Given the description of an element on the screen output the (x, y) to click on. 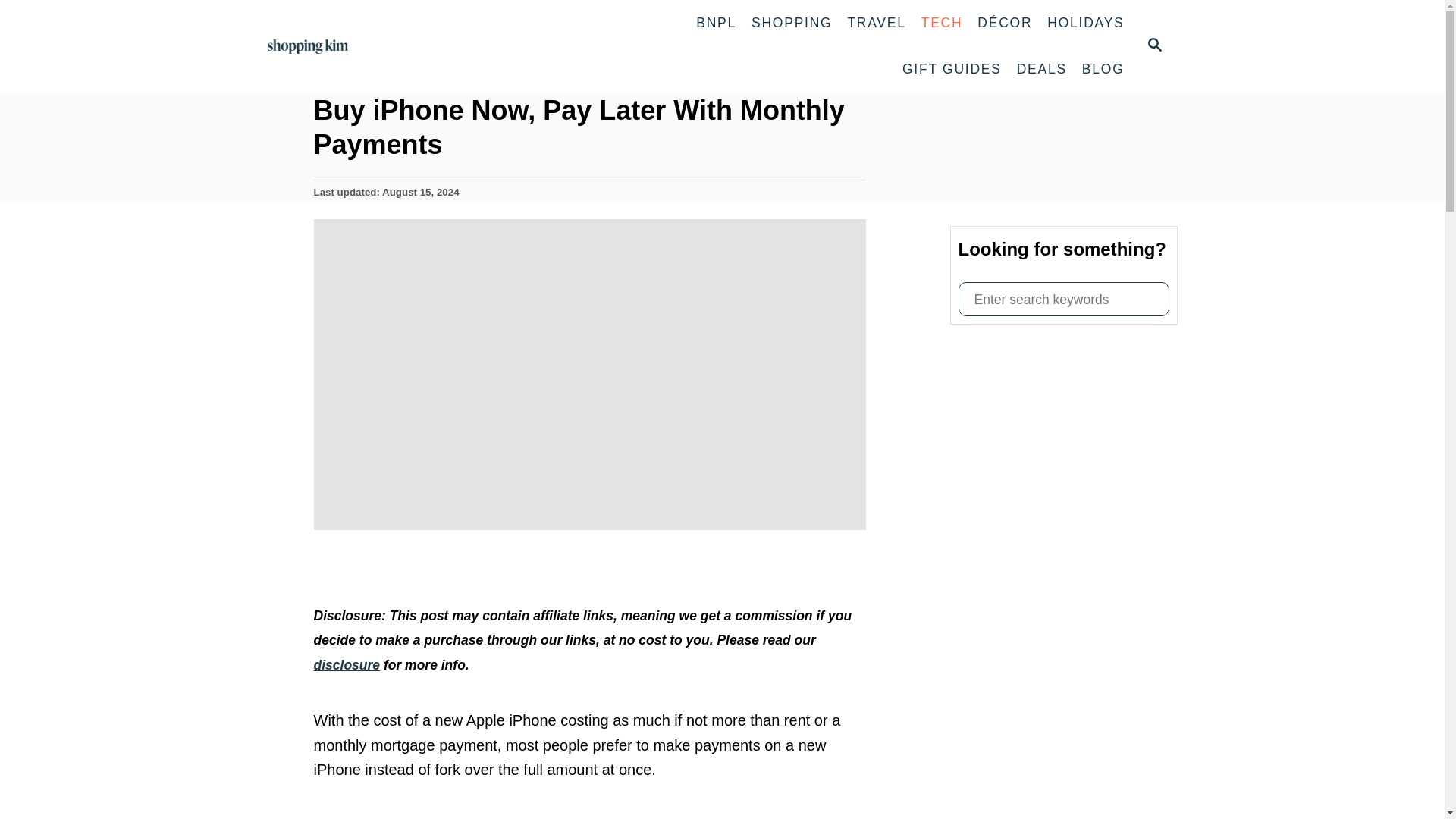
HOLIDAYS (1085, 23)
BNPL (716, 23)
SHOPPING (792, 23)
MAGNIFYING GLASS (1153, 45)
TECH (942, 23)
GIFT GUIDES (1153, 46)
Search for: (952, 69)
Shopping Kim (1063, 298)
